Given the description of an element on the screen output the (x, y) to click on. 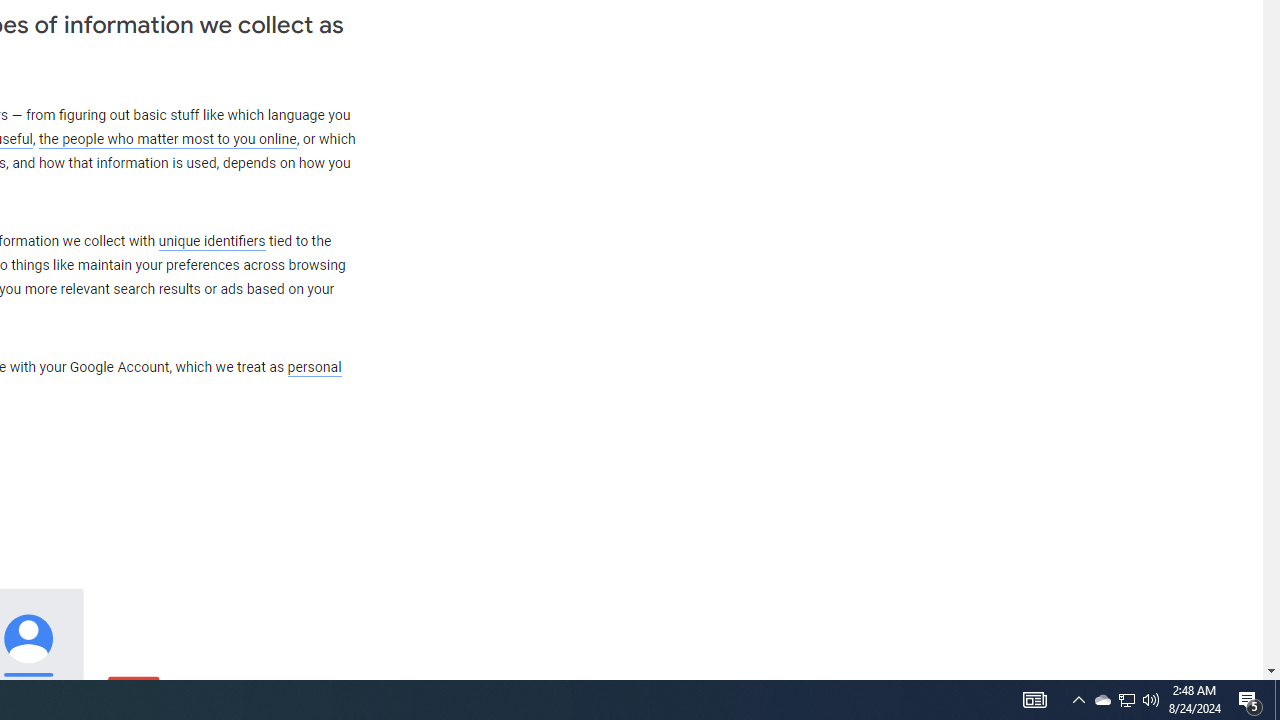
the people who matter most to you online (167, 139)
unique identifiers (211, 241)
